Given the description of an element on the screen output the (x, y) to click on. 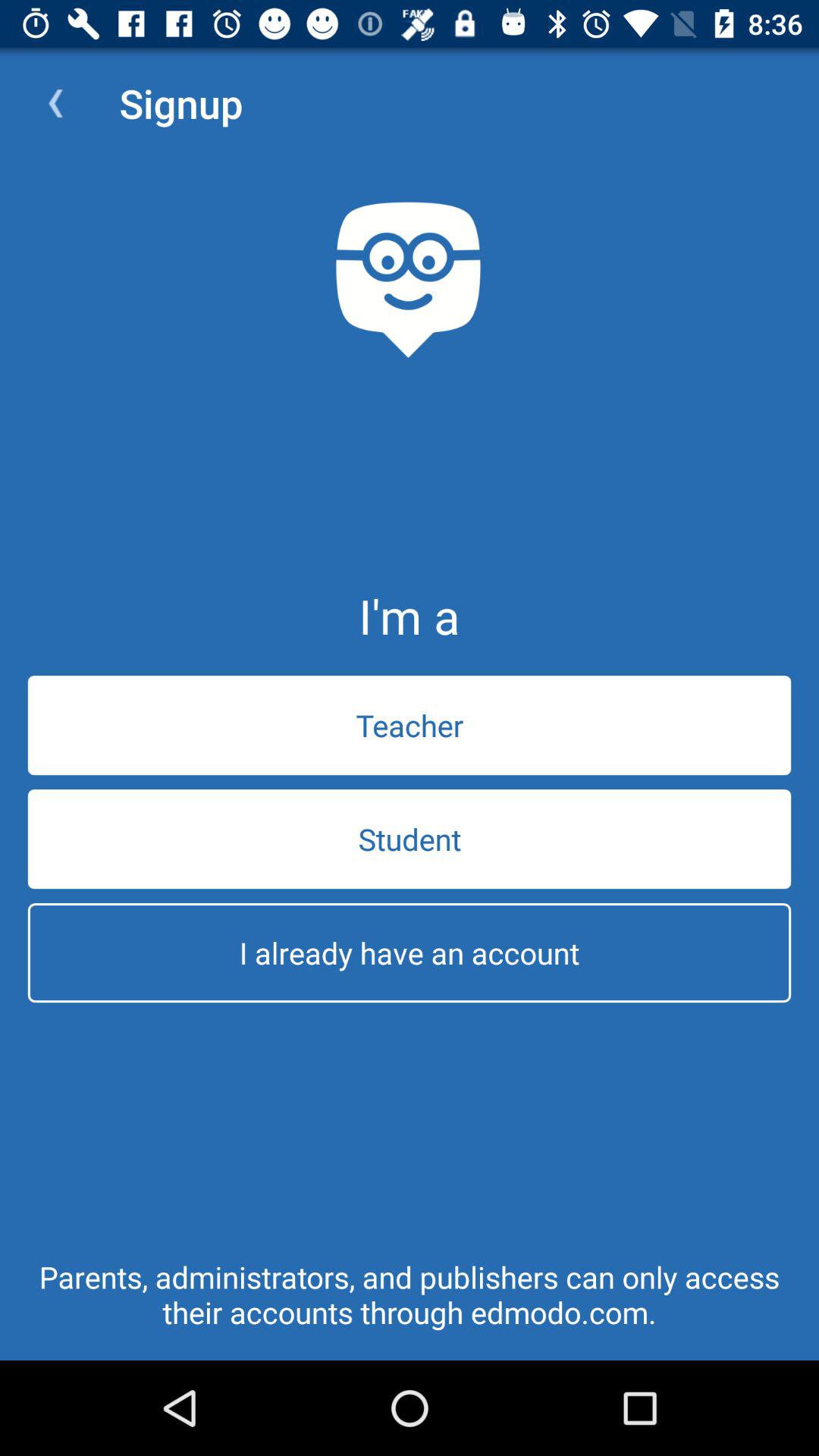
launch the item below i'm a (409, 725)
